Given the description of an element on the screen output the (x, y) to click on. 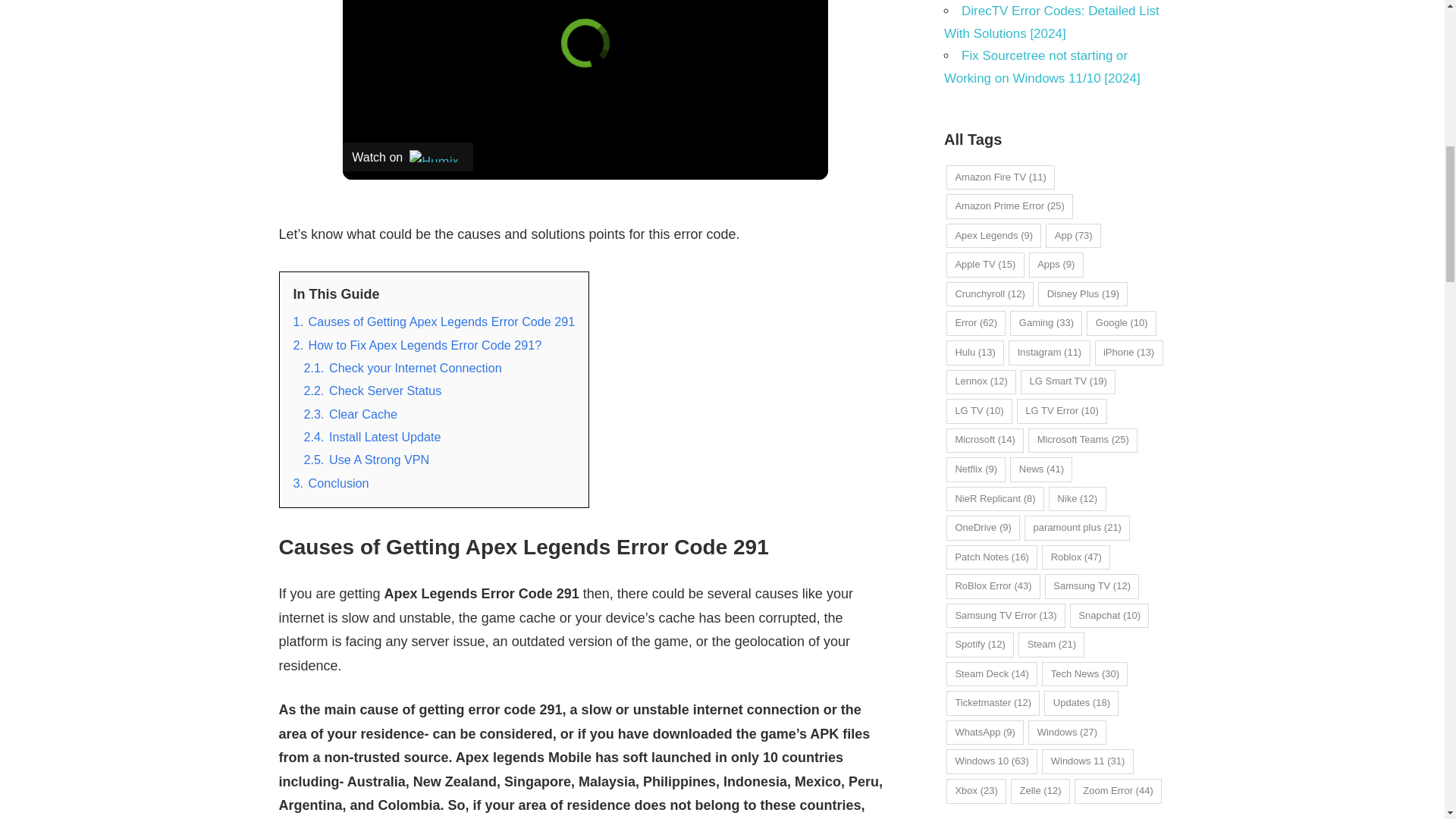
2.5. Use A Strong VPN (365, 459)
2.1. Check your Internet Connection (401, 367)
2. How to Fix Apex Legends Error Code 291? (416, 345)
Watch on (407, 156)
1. Causes of Getting Apex Legends Error Code 291 (433, 321)
2.4. Install Latest Update (371, 436)
3. Conclusion (330, 482)
2.3. Clear Cache (349, 413)
2.2. Check Server Status (371, 390)
